Given the description of an element on the screen output the (x, y) to click on. 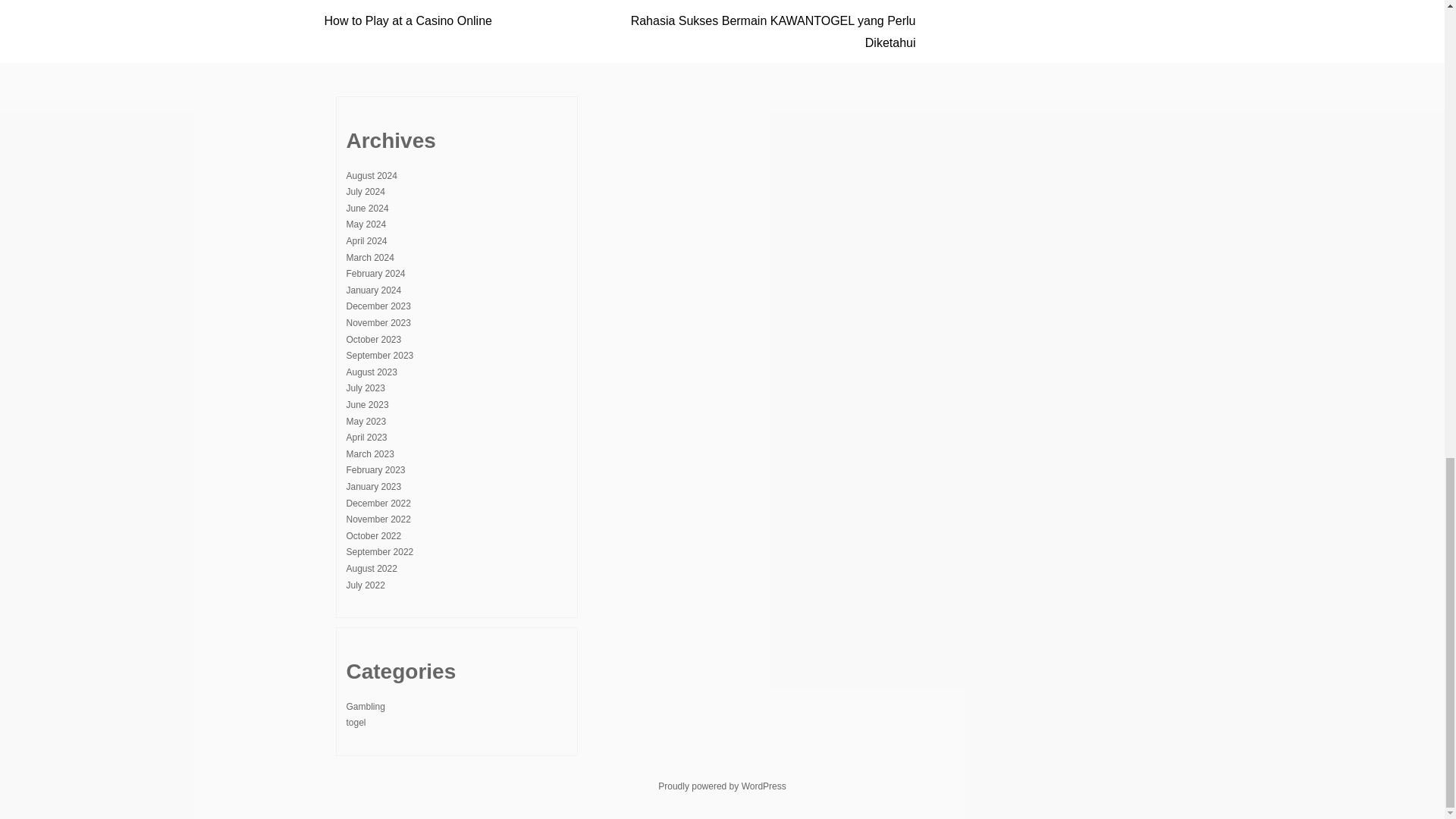
September 2023 (379, 355)
August 2024 (371, 175)
November 2022 (378, 519)
January 2024 (373, 290)
August 2023 (371, 371)
December 2022 (378, 502)
April 2023 (366, 437)
May 2023 (365, 421)
September 2022 (379, 552)
How to Play at a Casino Online (408, 20)
July 2023 (365, 388)
December 2023 (378, 306)
March 2023 (369, 453)
October 2022 (373, 535)
April 2024 (366, 240)
